Given the description of an element on the screen output the (x, y) to click on. 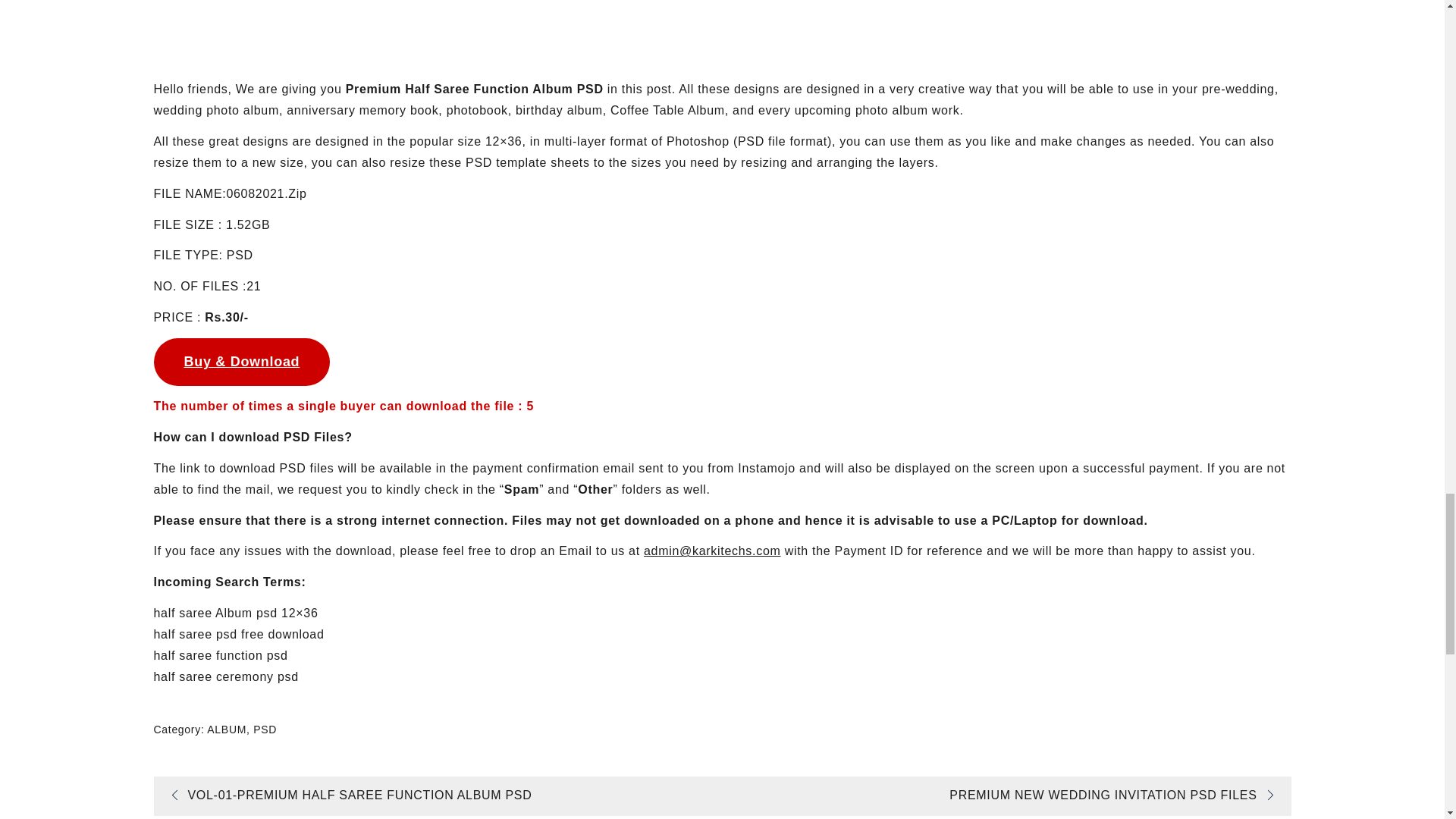
PREMIUM NEW WEDDING INVITATION PSD FILES (1115, 794)
PSD (264, 729)
ALBUM (226, 729)
VOL-01-PREMIUM HALF SAREE FUNCTION ALBUM PSD (345, 794)
